Given the description of an element on the screen output the (x, y) to click on. 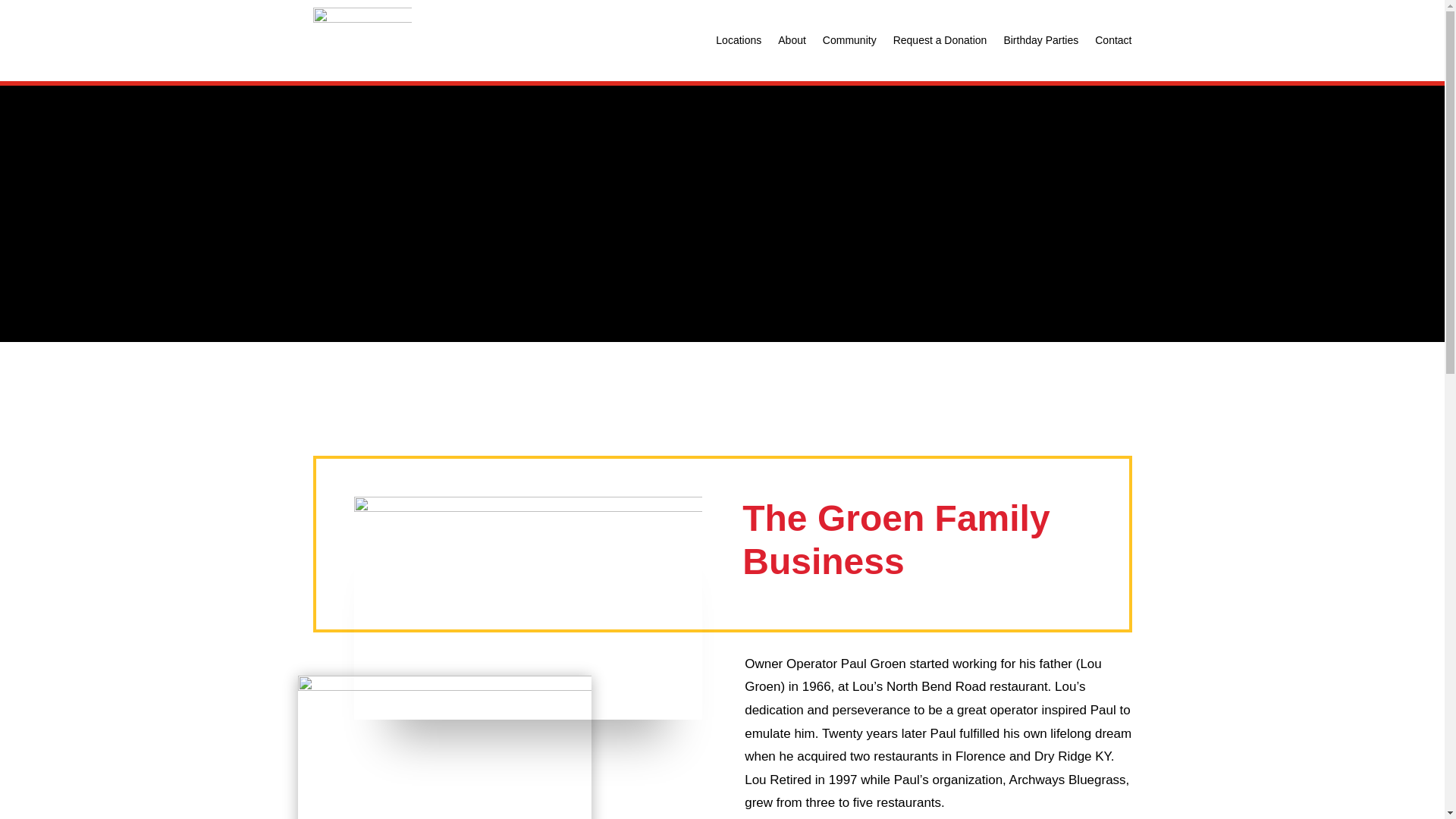
Groen-Owners (527, 607)
Request a Donation (940, 40)
Birthday Parties (1040, 40)
Filet-Fish (444, 747)
